Given the description of an element on the screen output the (x, y) to click on. 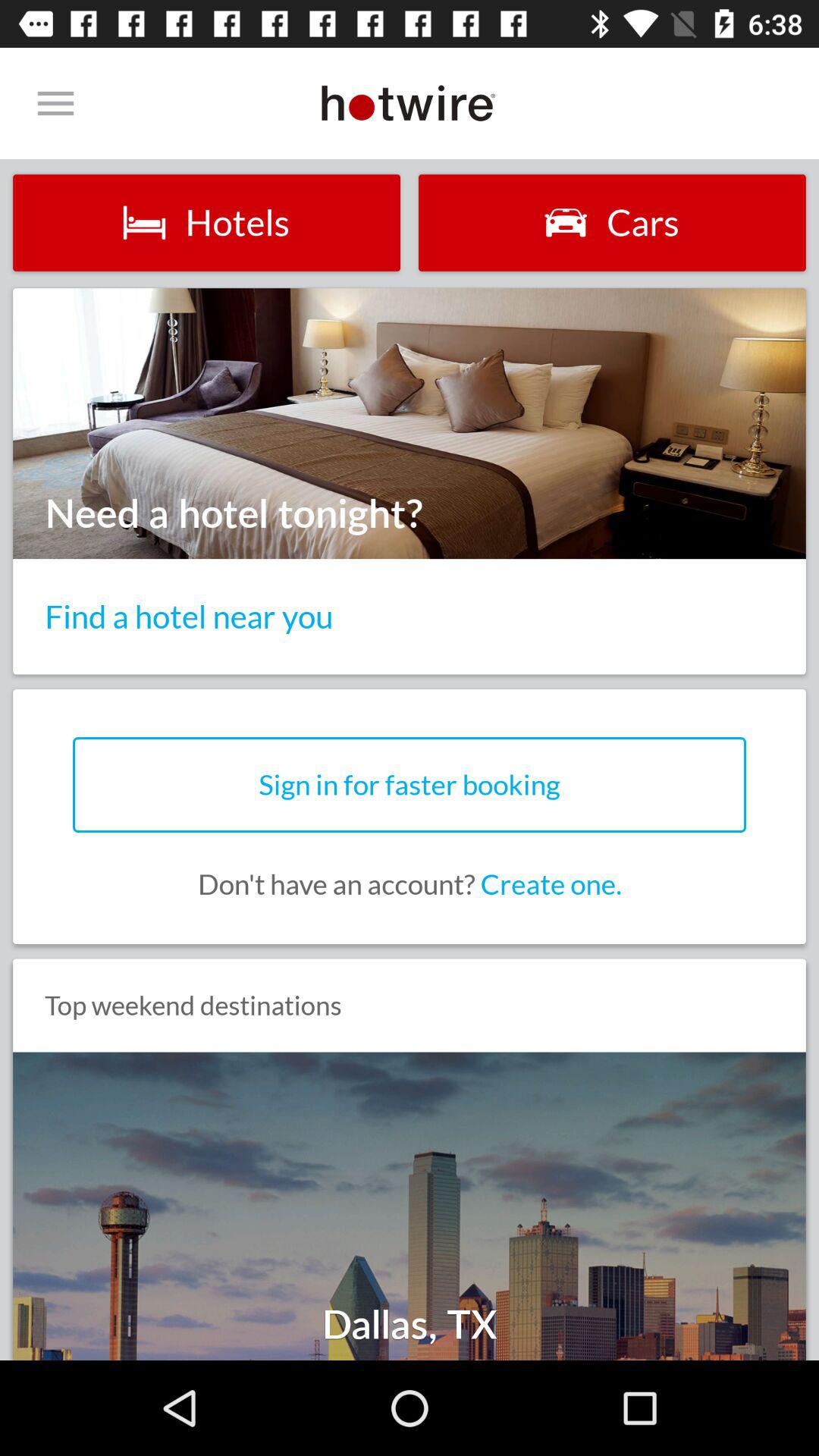
press the don t have icon (409, 884)
